Given the description of an element on the screen output the (x, y) to click on. 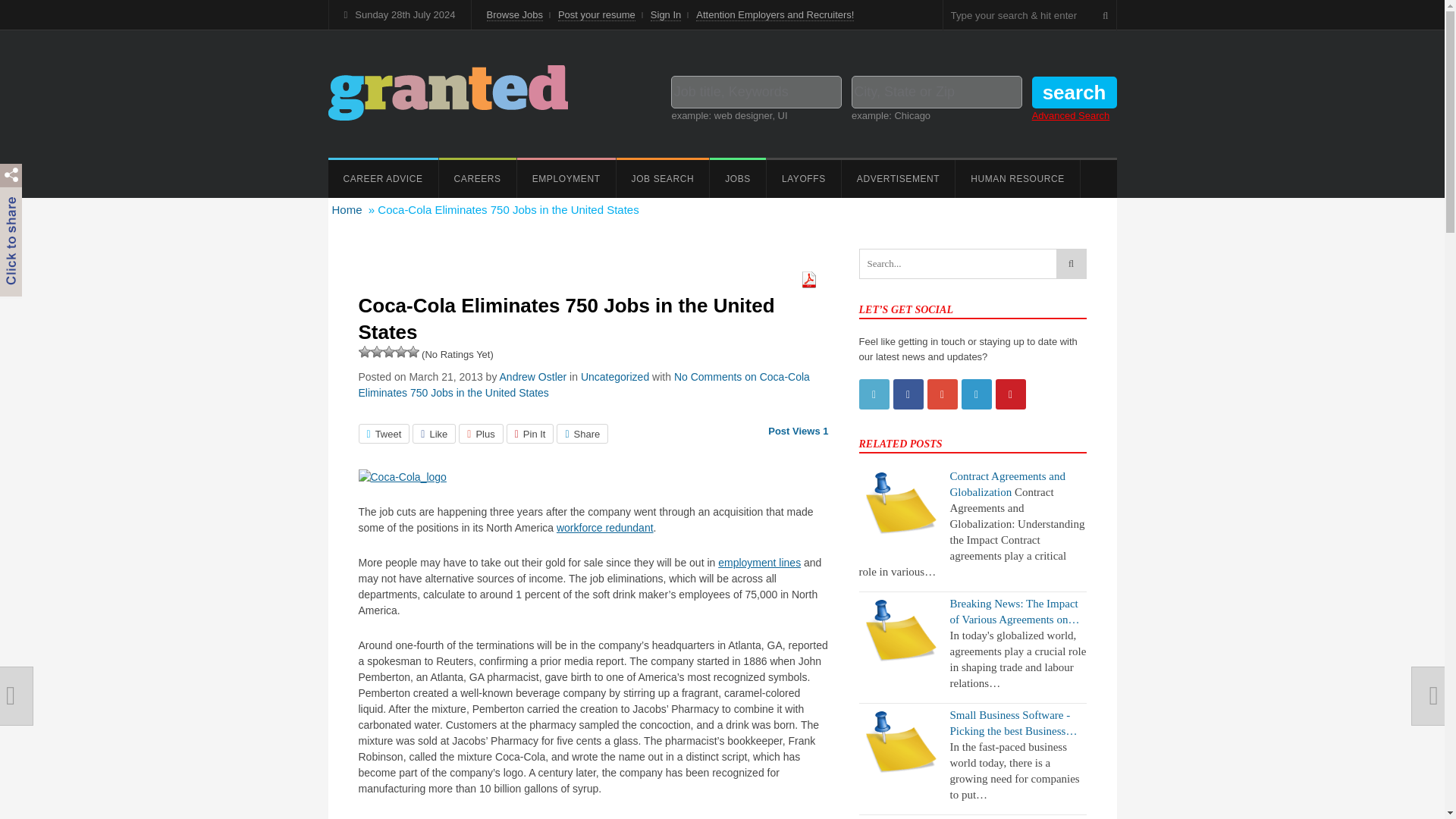
Download PDF (808, 284)
Sign In (665, 15)
Go to Granted Blog. (346, 209)
Advanced Search (1070, 115)
4 Stars (400, 351)
Share on Facebook (433, 433)
Attention Employers and Recruiters! (774, 15)
search (1074, 92)
Job title, Keywords (756, 92)
Browse Jobs (514, 15)
3 Stars (387, 351)
search (1074, 92)
EMPLOYMENT (565, 177)
City, State or Zip (936, 92)
CAREERS (477, 177)
